Given the description of an element on the screen output the (x, y) to click on. 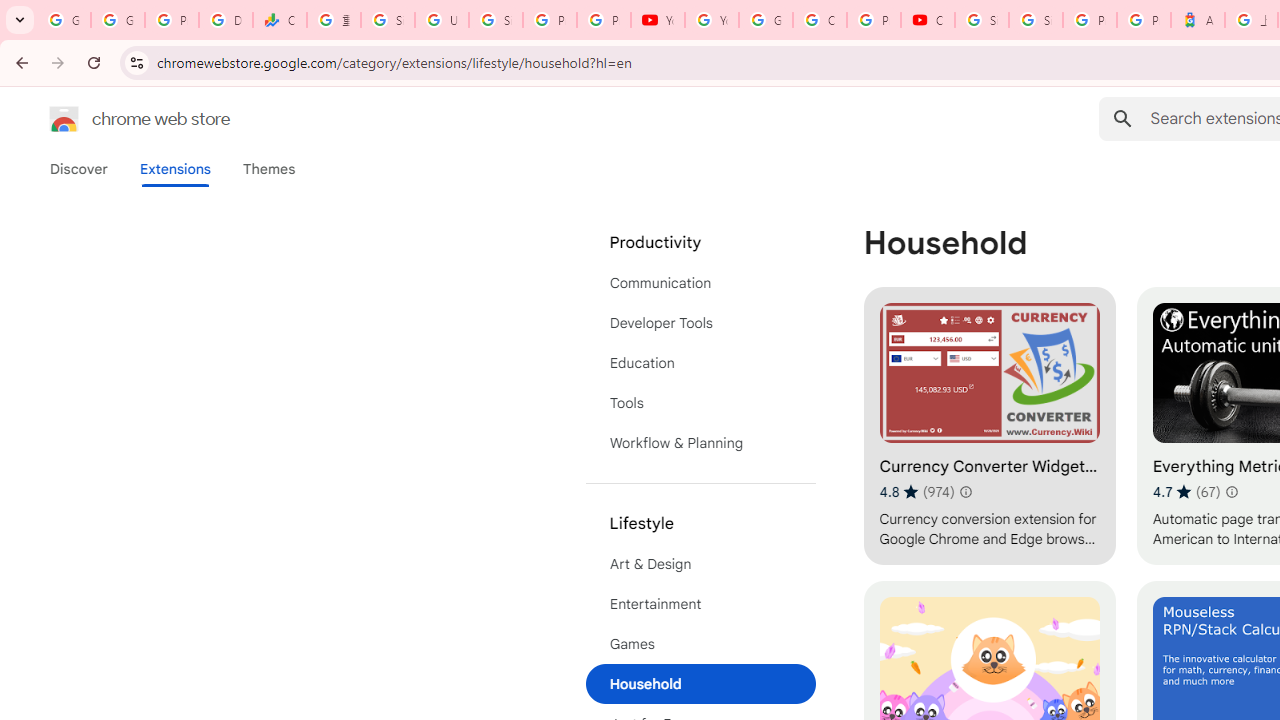
Themes (269, 169)
Tools (700, 403)
Chrome Web Store logo chrome web store (118, 118)
Education (700, 362)
Art & Design (700, 563)
Communication (700, 282)
